Given the description of an element on the screen output the (x, y) to click on. 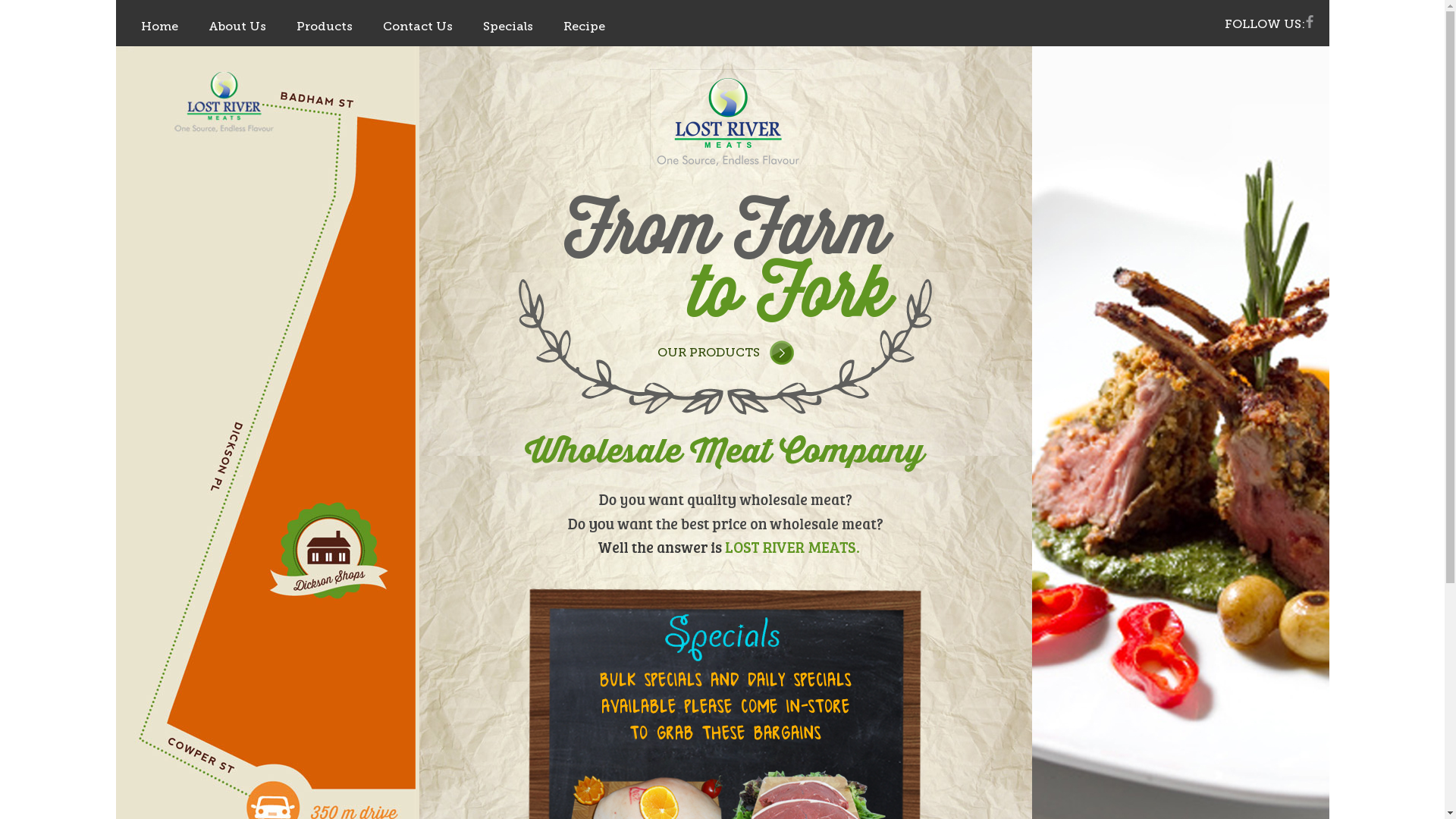
Specials Element type: text (507, 25)
Contact Us Element type: text (416, 25)
Recipe Element type: text (583, 25)
LOST RIVER Element type: hover (724, 119)
Home Element type: text (159, 25)
OUR PRODUCTS Element type: text (724, 352)
Products Element type: text (323, 25)
About Us Element type: text (236, 25)
